Given the description of an element on the screen output the (x, y) to click on. 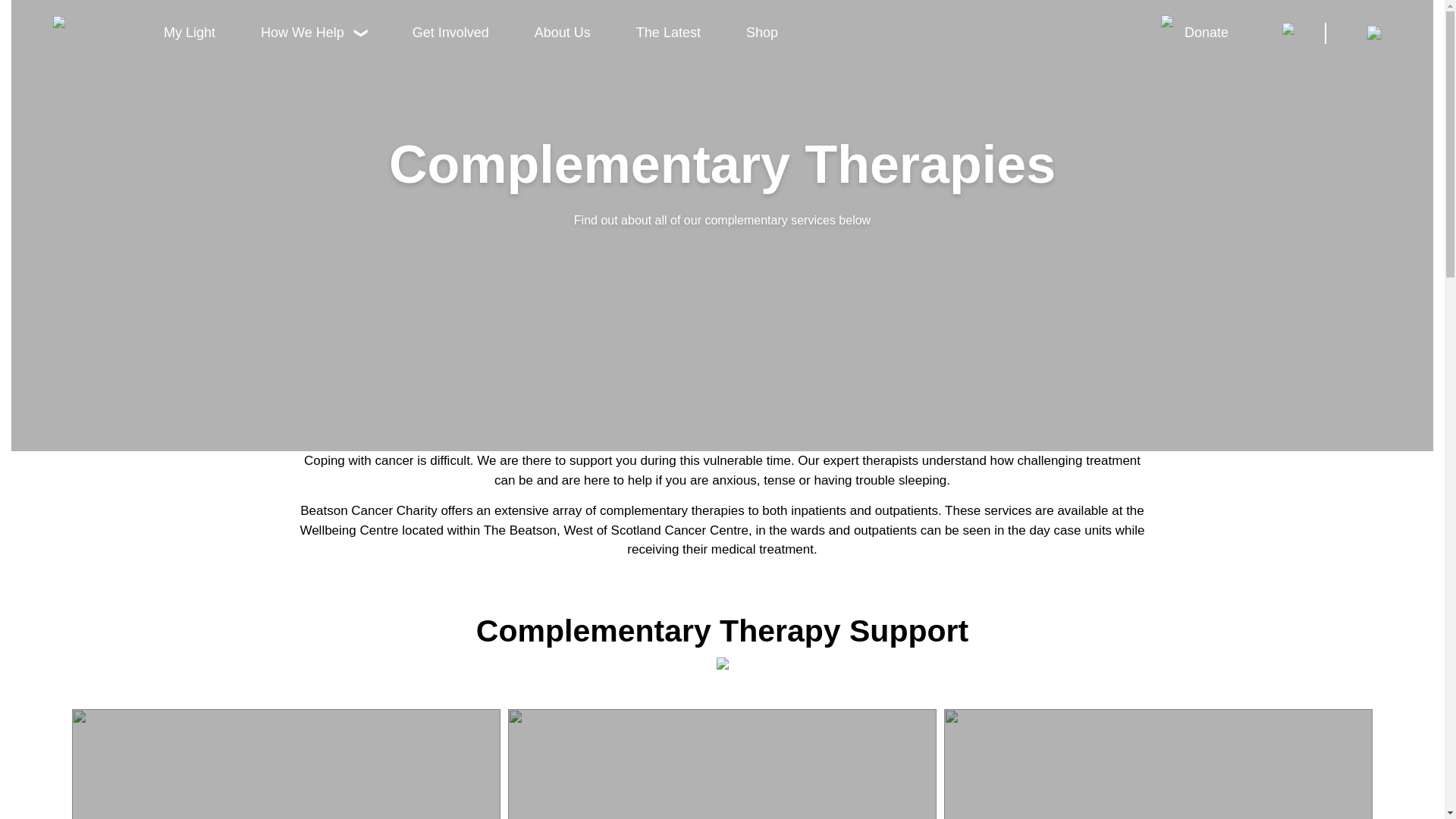
The Latest (667, 37)
Donate (1206, 35)
Donate (1206, 35)
My Light (188, 37)
Get Involved (450, 37)
Shop (762, 37)
Ring the bell (1369, 28)
Search (1303, 37)
About Us (562, 37)
